Given the description of an element on the screen output the (x, y) to click on. 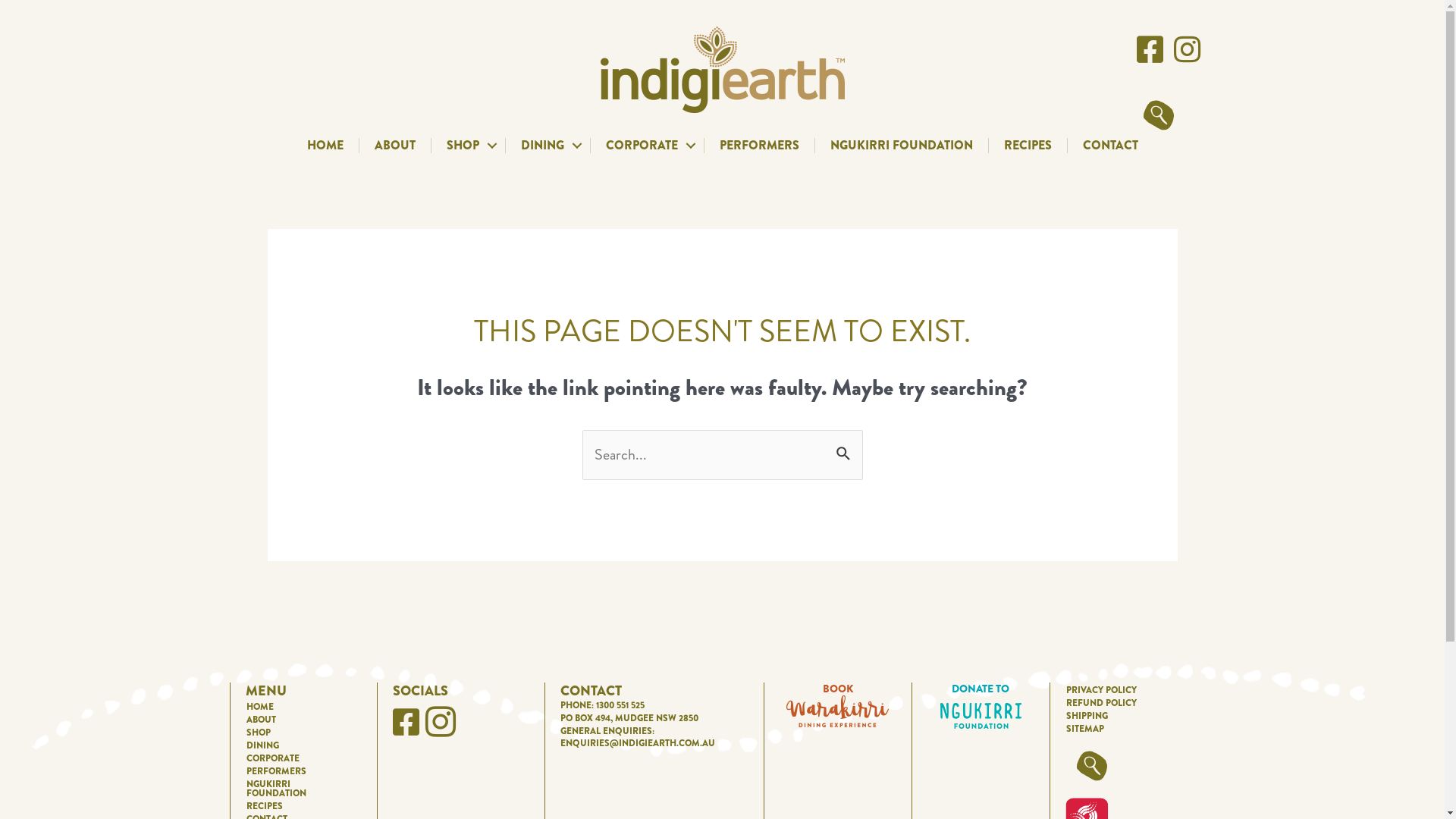
REFUND POLICY Element type: text (1127, 701)
ENQUIRIES@INDIGIEARTH.COM.AU Element type: text (636, 742)
RECIPES Element type: text (1027, 145)
NGUKIRRI FOUNDATION Element type: text (900, 145)
DINING Element type: text (547, 145)
PERFORMERS Element type: text (297, 769)
Indigiearth-Logo-HEADER Element type: hover (722, 69)
SHIPPING Element type: text (1127, 714)
ABOUT Element type: text (394, 145)
ABOUT Element type: text (297, 718)
PERFORMERS Element type: text (758, 145)
PRIVACY POLICY Element type: text (1127, 688)
1300 551 525 Element type: text (620, 705)
SITEMAP Element type: text (1127, 727)
Indigiearth_NGUKIRRI-Logo-Footer Element type: hover (980, 715)
RECIPES Element type: text (297, 804)
HOME Element type: text (297, 705)
DINING Element type: text (297, 743)
CORPORATE Element type: text (297, 756)
NGUKIRRI FOUNDATION Element type: text (297, 786)
Indigiearth_Warakirri-Logo-Footer- Element type: hover (837, 711)
CORPORATE Element type: text (645, 145)
SHOP Element type: text (467, 145)
SHOP Element type: text (297, 730)
CONTACT Element type: text (1110, 145)
Search Element type: text (845, 446)
HOME Element type: text (324, 145)
